Given the description of an element on the screen output the (x, y) to click on. 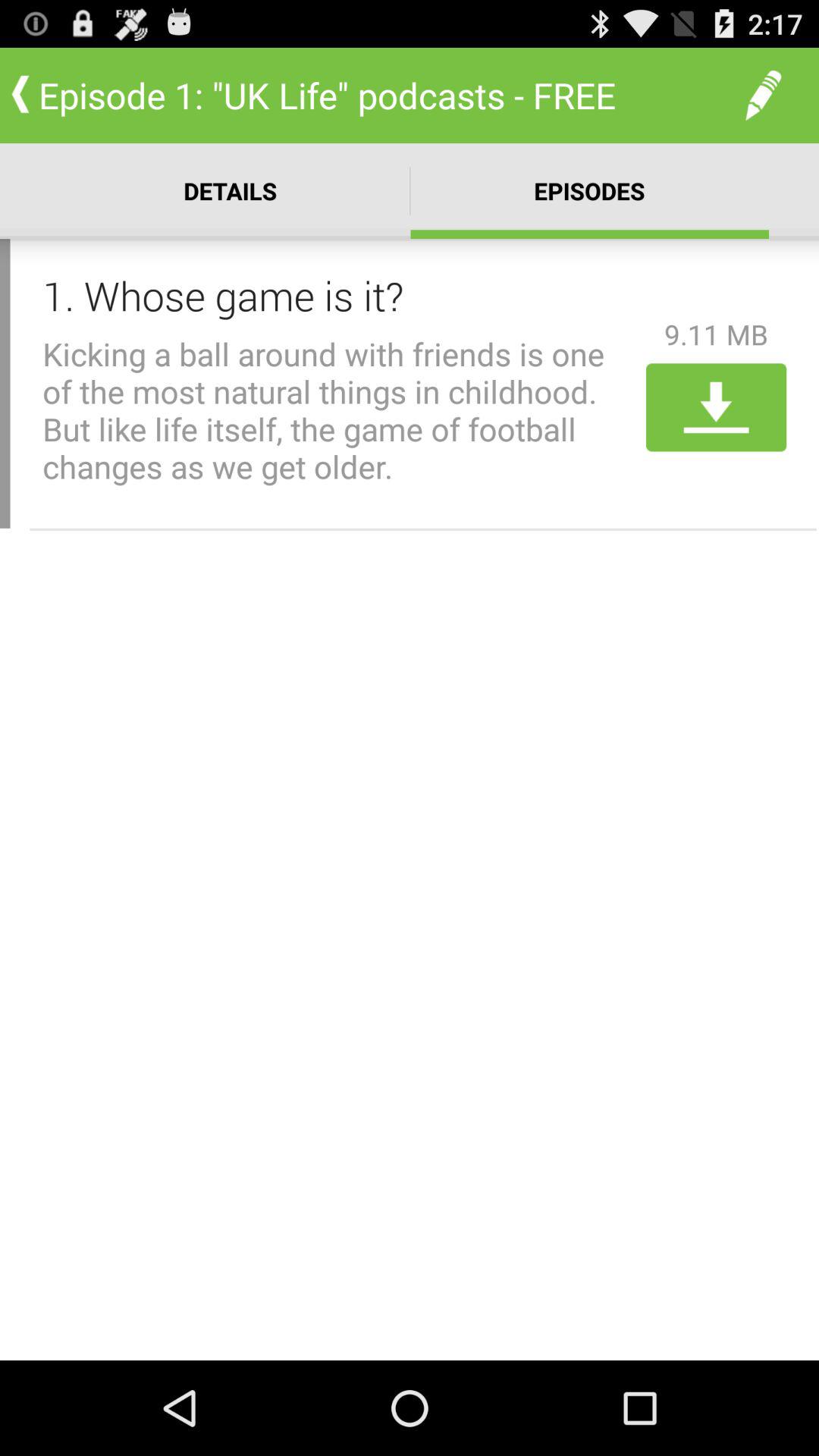
choose the item next to kicking a ball item (716, 407)
